Given the description of an element on the screen output the (x, y) to click on. 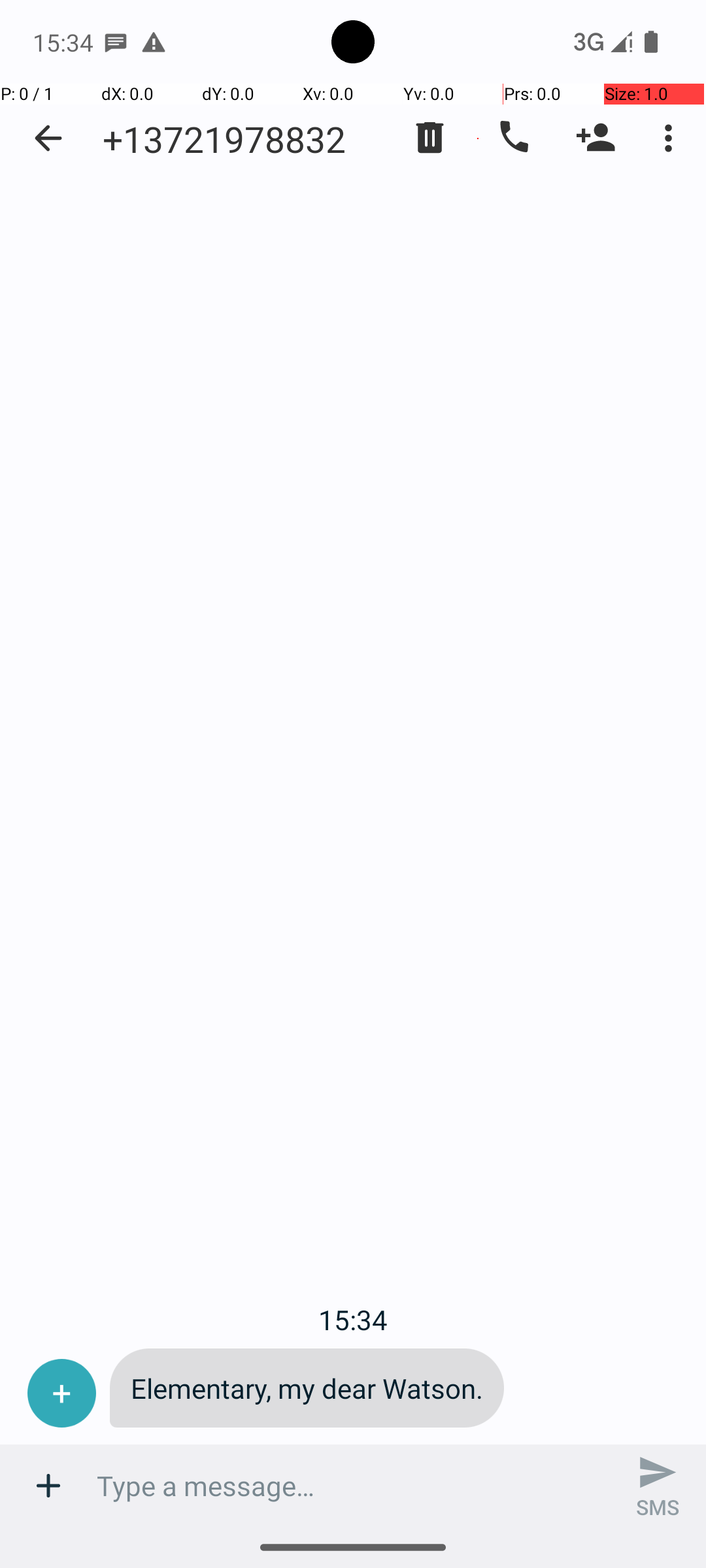
+13721978832 Element type: android.widget.TextView (223, 138)
Elementary, my dear Watson. Element type: android.widget.TextView (306, 1387)
